Given the description of an element on the screen output the (x, y) to click on. 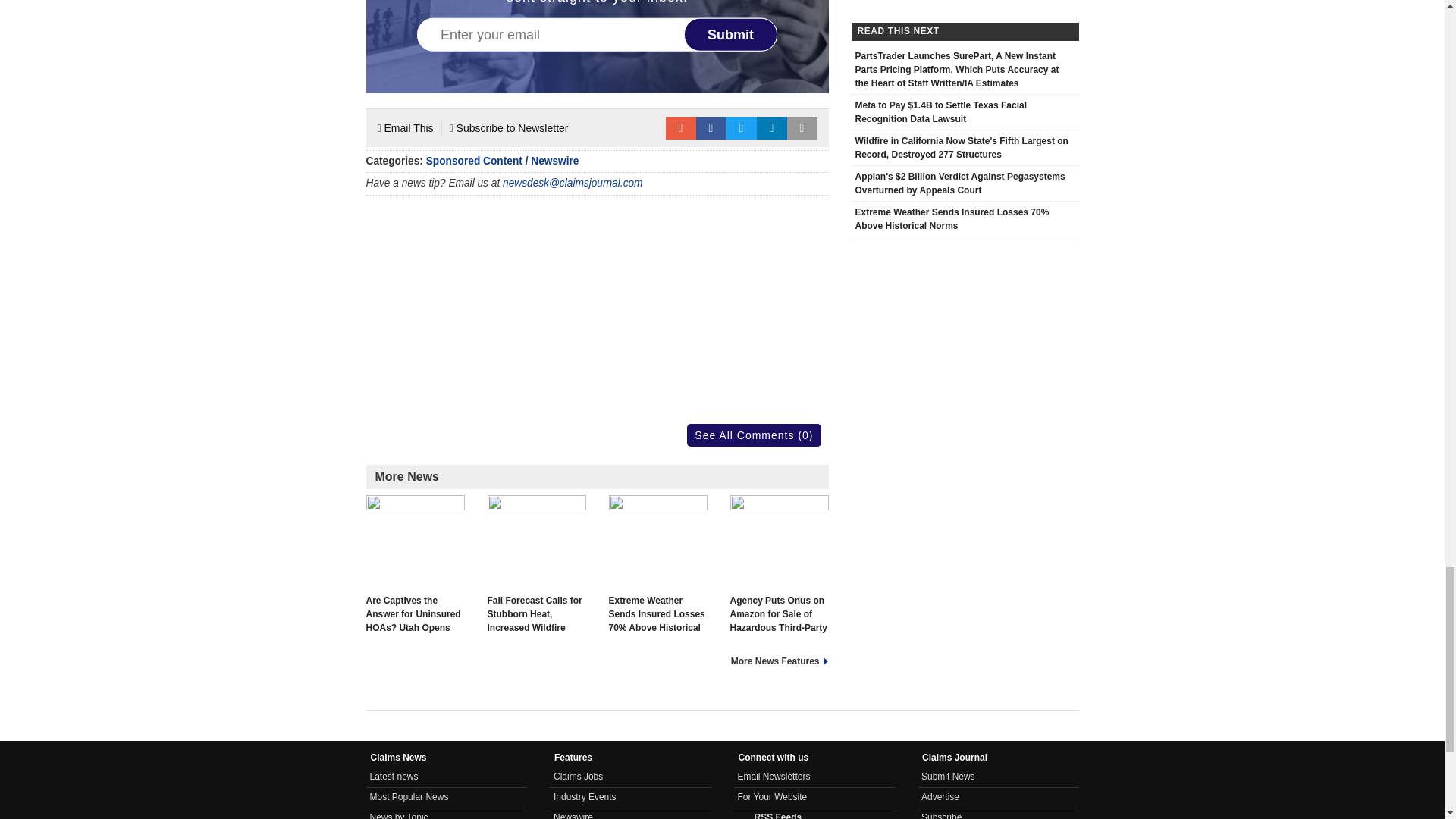
Email to a friend (680, 128)
Insurance News by Topic (398, 815)
Post to Facebook. (710, 128)
Share on LinkedIn. (772, 128)
Print Article (801, 128)
Submit (730, 34)
Share on Twitter. (741, 128)
